Given the description of an element on the screen output the (x, y) to click on. 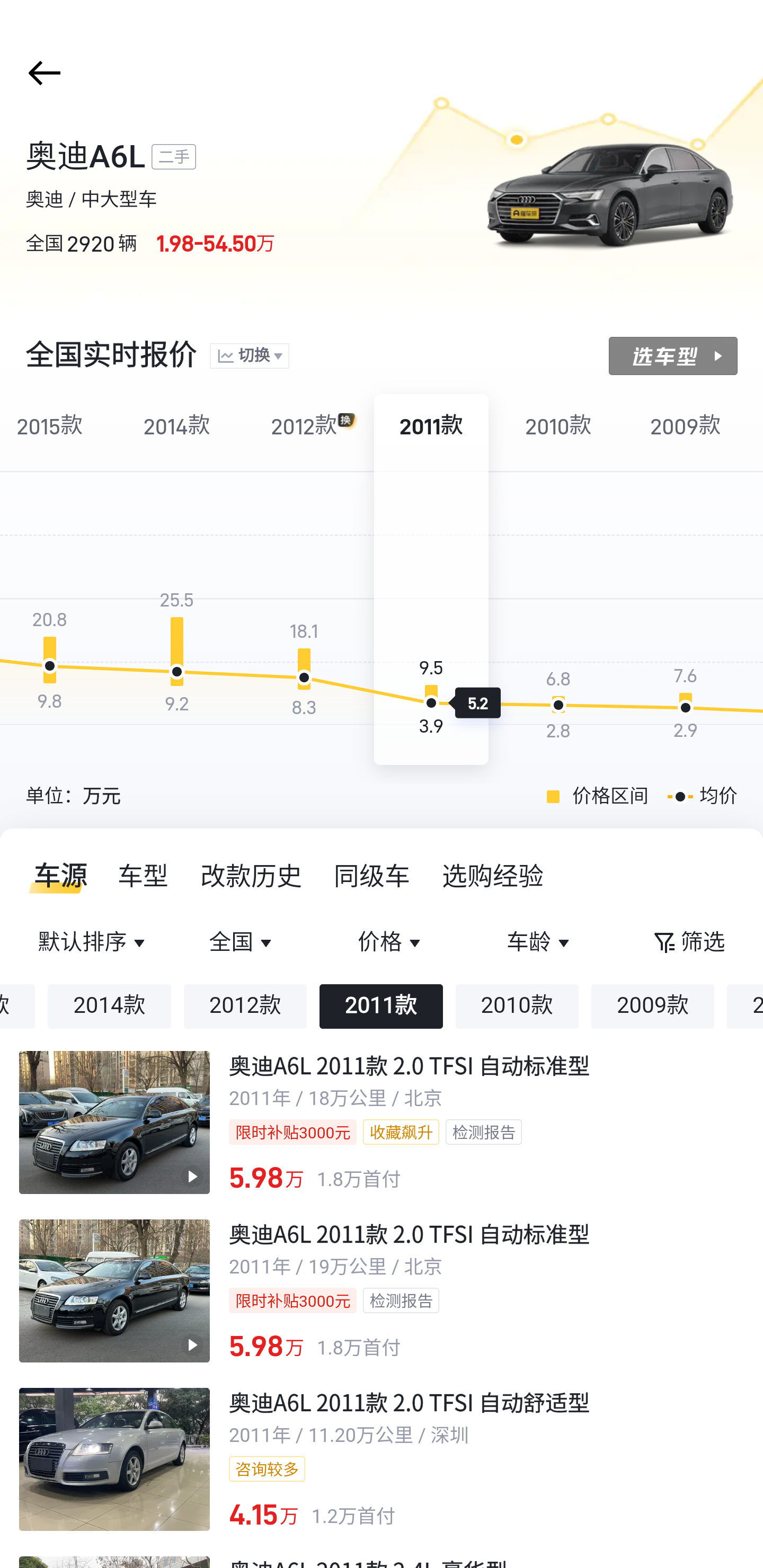
 (41, 72)
切换 (249, 356)
2015款 20.8 9.8 (54, 579)
2014款 25.5 9.2 (177, 579)
2012 款 18.1 8.3 (304, 579)
2011款 9.5 3.9 (431, 579)
2010款 6.8 2.8 (558, 579)
2009款 7.6 2.9 (685, 579)
车源 (55, 875)
车型 (143, 876)
改款历史 (251, 876)
同级车 (372, 876)
选购经验 (492, 876)
默认排序 (93, 943)
全国 (242, 943)
价格 (390, 943)
车龄 (538, 943)
筛选 (688, 943)
2014款 (109, 1006)
2012款 (245, 1006)
2011款 (381, 1006)
2010款 (516, 1006)
2009款 (652, 1006)
